Given the description of an element on the screen output the (x, y) to click on. 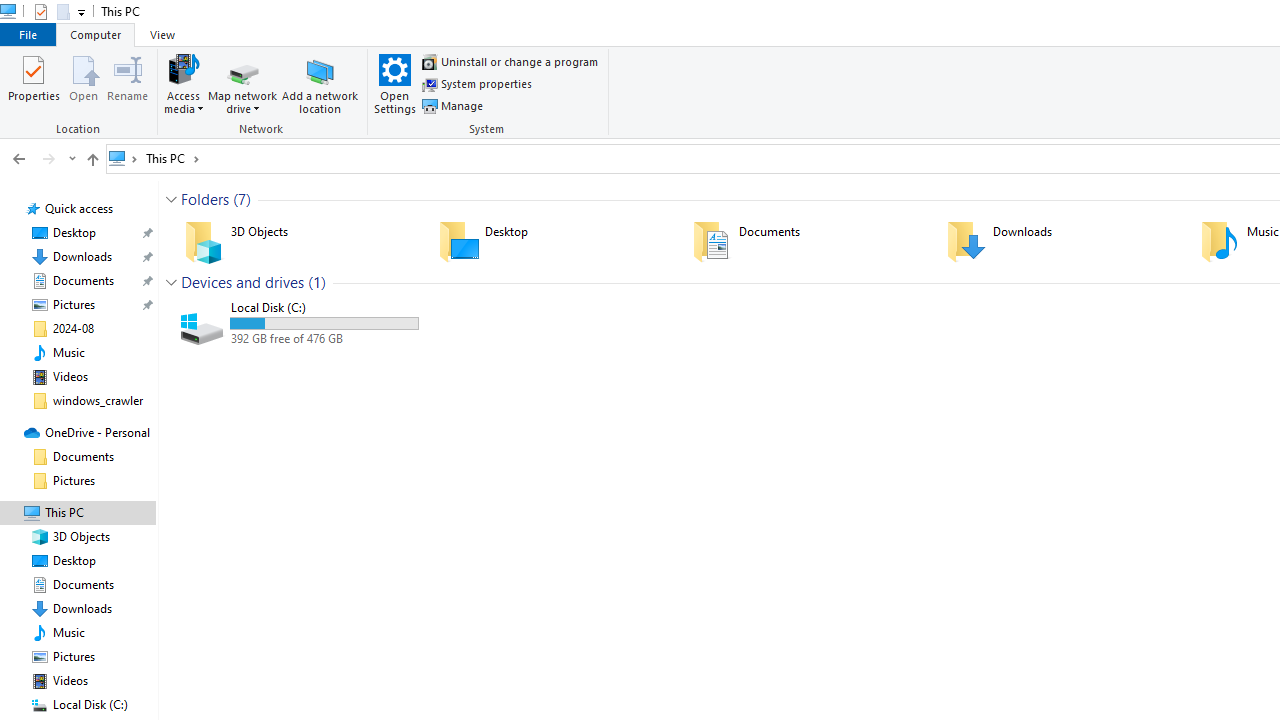
Downloads (1060, 241)
Recent locations (71, 159)
System (10, 11)
Back to 3D Objects (Alt + Left Arrow) (18, 159)
Computer (95, 34)
Up to "Desktop" (Alt + Up Arrow) (92, 160)
System (10, 11)
Rename (127, 83)
Add a network location (320, 83)
Videos (70, 376)
Desktop (pinned) (74, 232)
Name (324, 308)
Up band toolbar (92, 162)
Collapse Group (171, 282)
Documents (pinned) (83, 281)
